Given the description of an element on the screen output the (x, y) to click on. 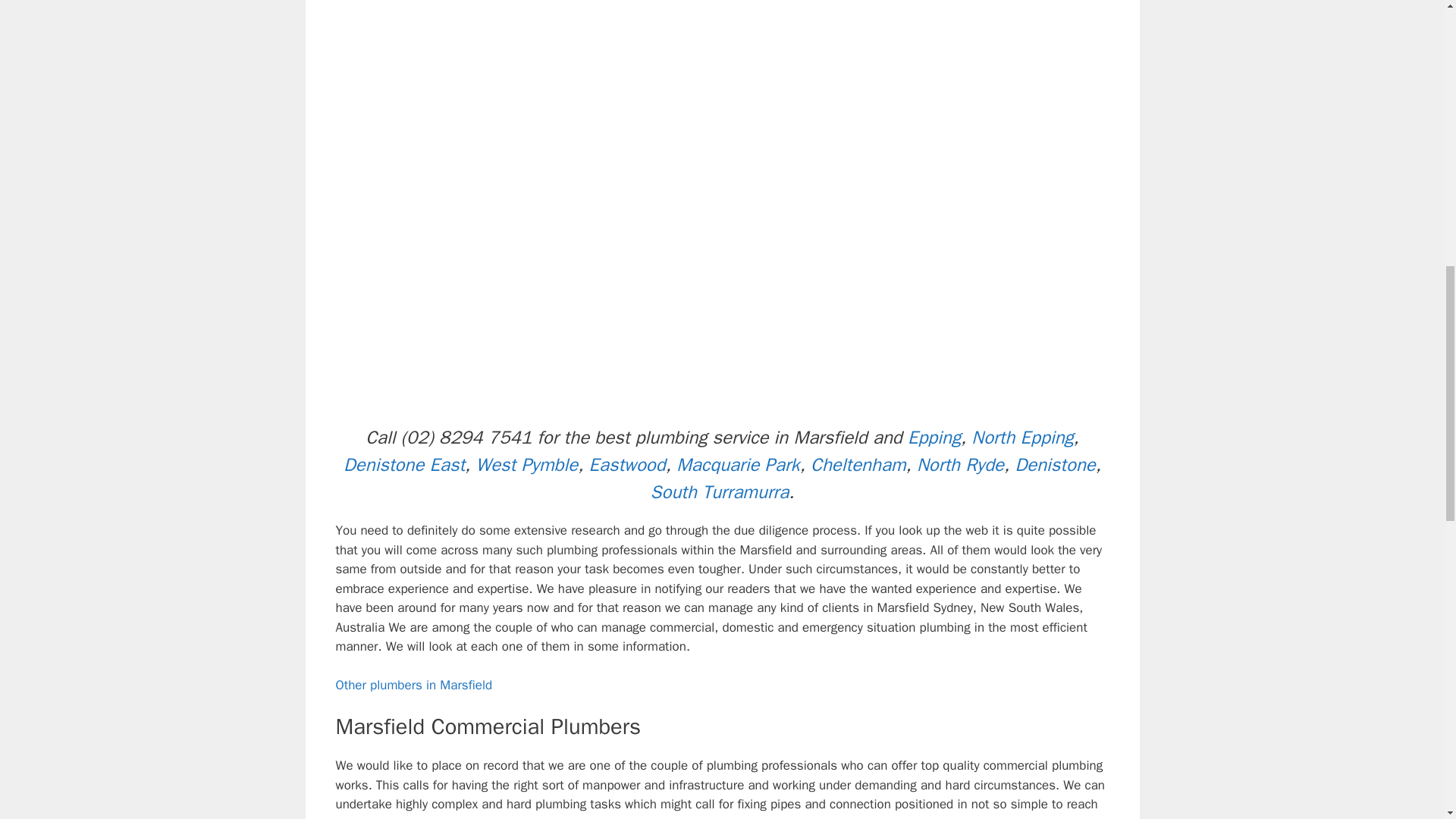
Other plumbers in Marsfield (413, 684)
North Ryde (960, 464)
Epping (933, 436)
Cheltenham (857, 464)
Eastwood (627, 464)
North Epping (1022, 436)
Denistone (1054, 464)
South Turramurra (719, 491)
West Pymble (527, 464)
Macquarie Park (738, 464)
Denistone East (403, 464)
